Given the description of an element on the screen output the (x, y) to click on. 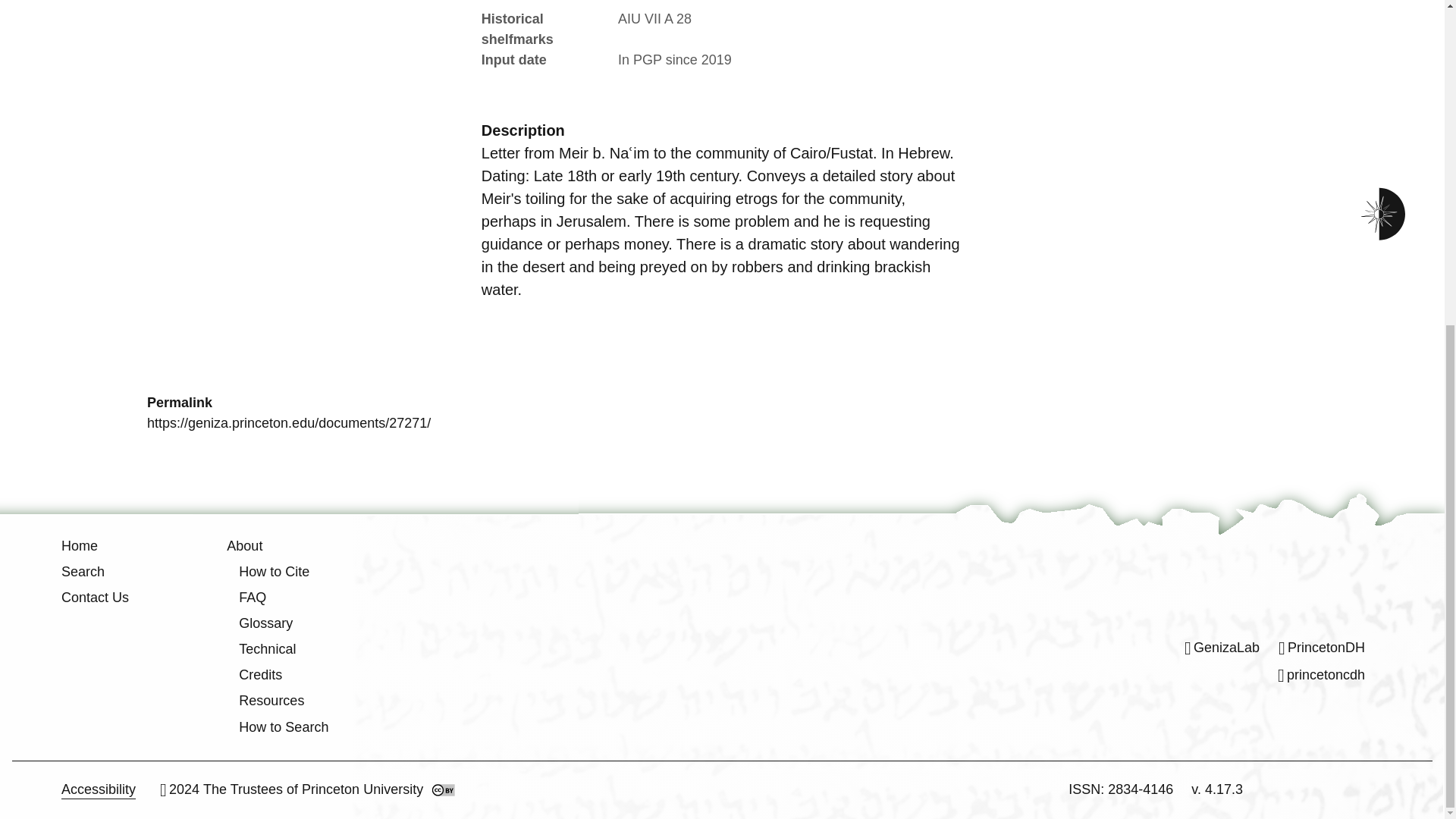
Search (82, 571)
How to Search (283, 726)
FAQ (252, 597)
princetoncdh (1321, 674)
How to Cite (273, 571)
Glossary (265, 622)
GenizaLab (1222, 647)
Credits (260, 674)
Contact Us (95, 597)
PrincetonDH (1321, 647)
